Given the description of an element on the screen output the (x, y) to click on. 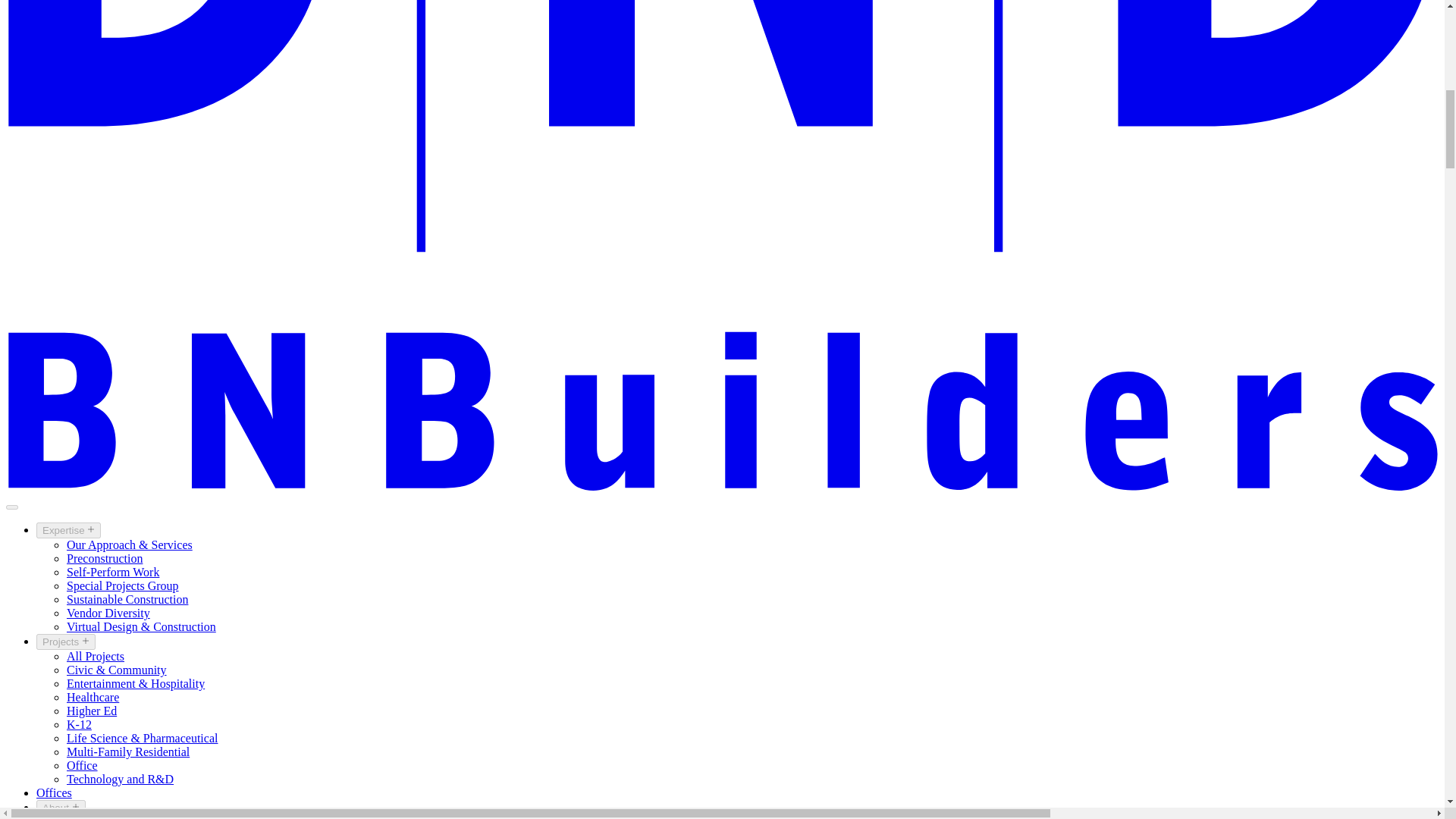
All Projects (94, 656)
Special Projects Group (122, 585)
Sustainable Construction (126, 599)
Multi-Family Residential (127, 751)
Vendor Diversity (107, 612)
Expertise (68, 530)
Self-Perform Work (112, 571)
Preconstruction (104, 558)
Offices (53, 792)
Projects (66, 641)
Office (81, 765)
About BNB (95, 817)
Higher Ed (91, 710)
K-12 (78, 724)
Healthcare (92, 697)
